Given the description of an element on the screen output the (x, y) to click on. 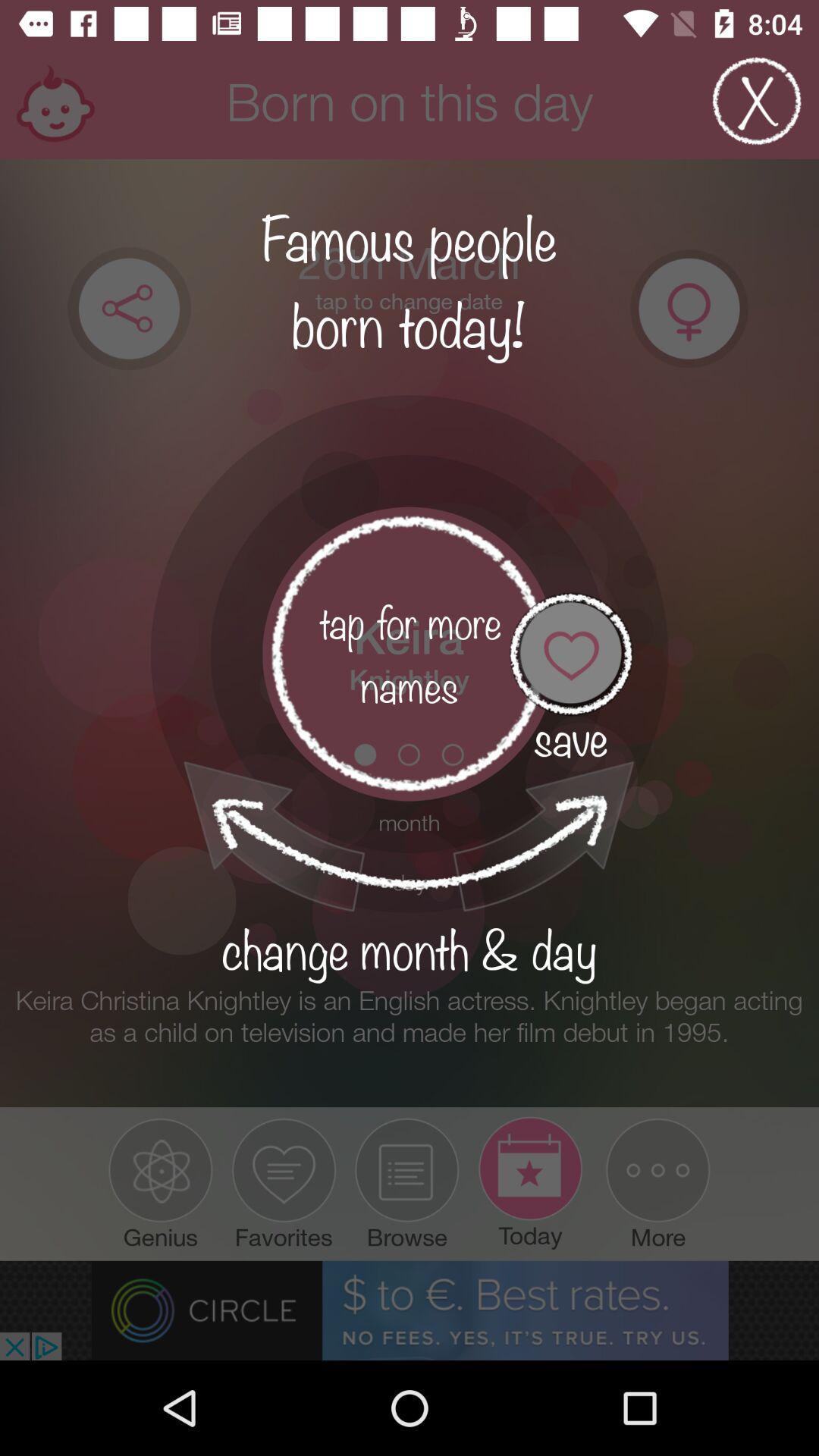
click to exit (757, 101)
